Given the description of an element on the screen output the (x, y) to click on. 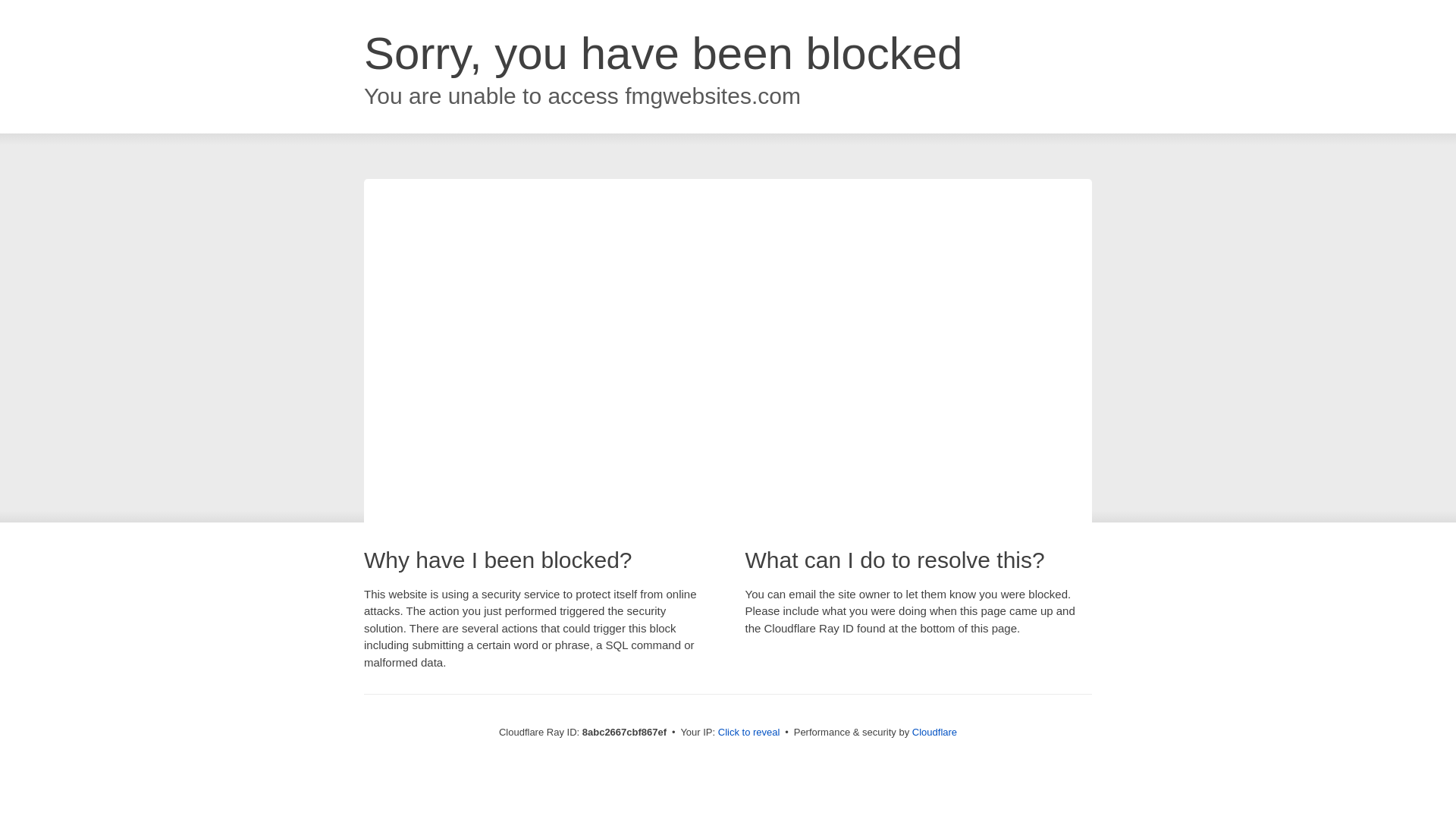
Cloudflare (934, 731)
Click to reveal (748, 732)
